Given the description of an element on the screen output the (x, y) to click on. 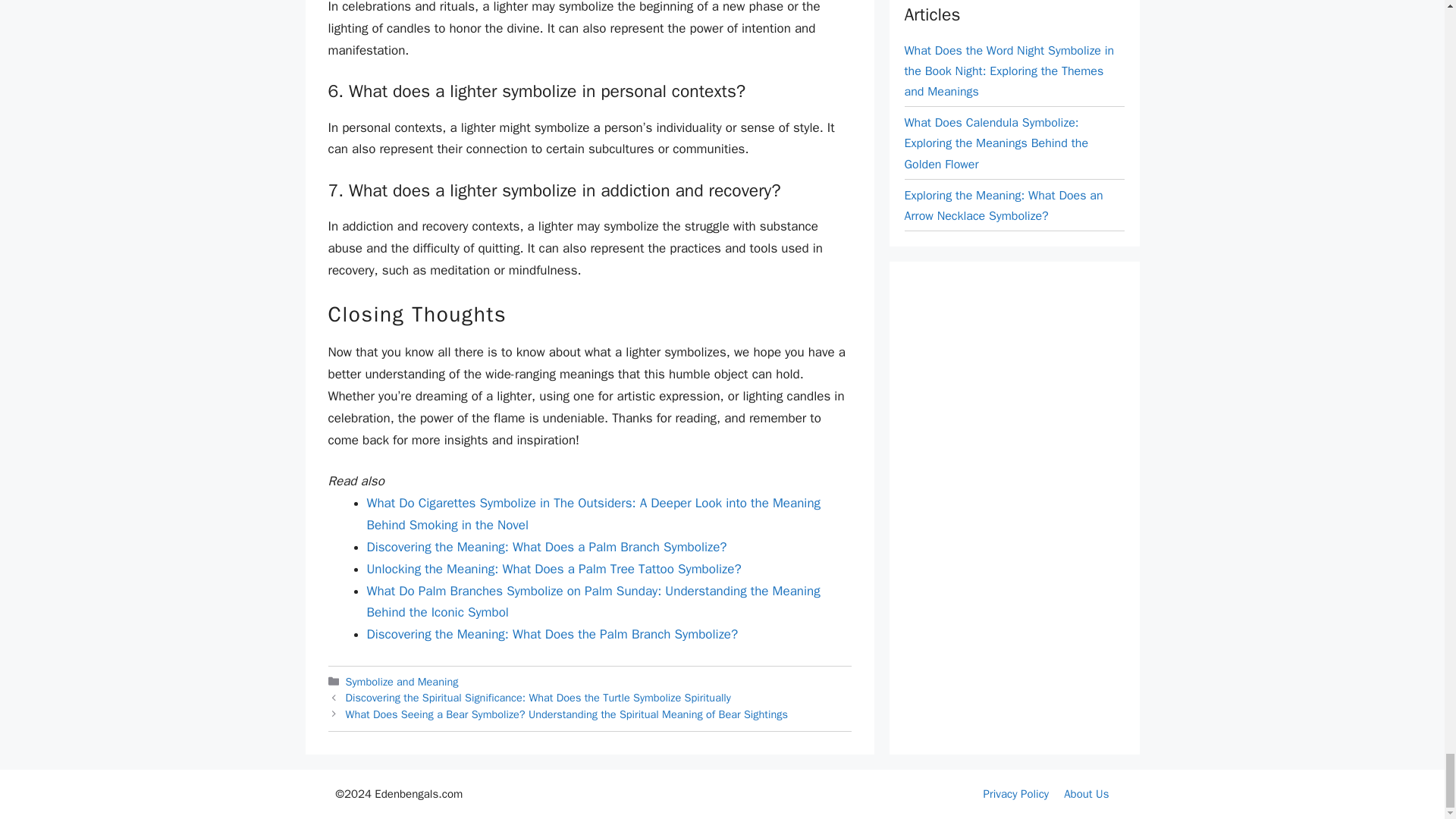
Symbolize and Meaning (402, 681)
About Us (1086, 793)
Privacy Policy (1016, 793)
Discovering the Meaning: What Does a Palm Branch Symbolize? (546, 546)
